Given the description of an element on the screen output the (x, y) to click on. 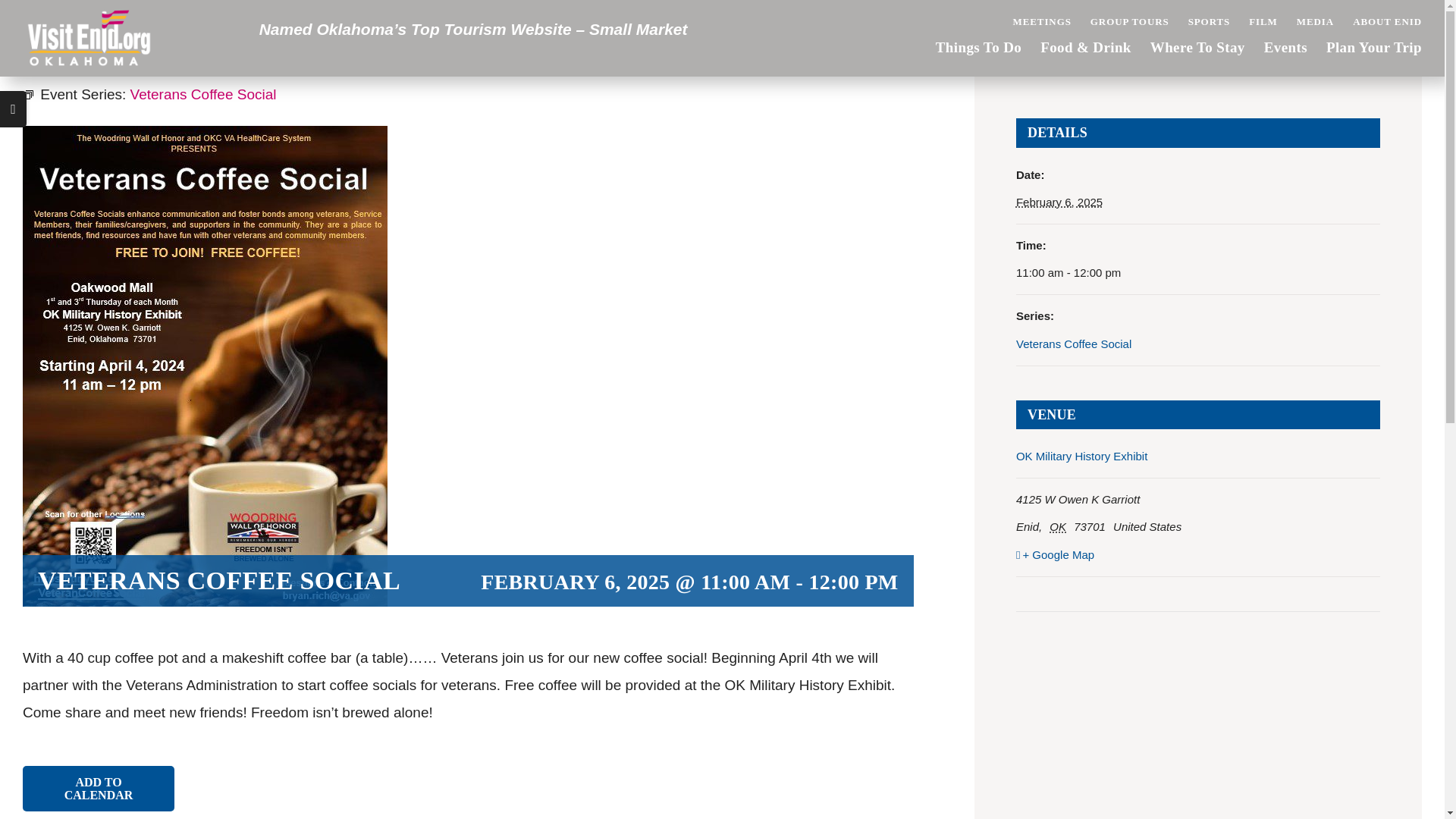
2025-02-06 (1059, 201)
GROUP TOURS (1129, 21)
Click to view a Google Map (1198, 554)
Event Series: (28, 94)
FILM (1263, 21)
MEDIA (1315, 21)
MEETINGS (1040, 21)
2025-02-06 (1198, 272)
SPORTS (1209, 21)
Oklahoma (1059, 526)
Veterans Coffee Social (1073, 342)
